Given the description of an element on the screen output the (x, y) to click on. 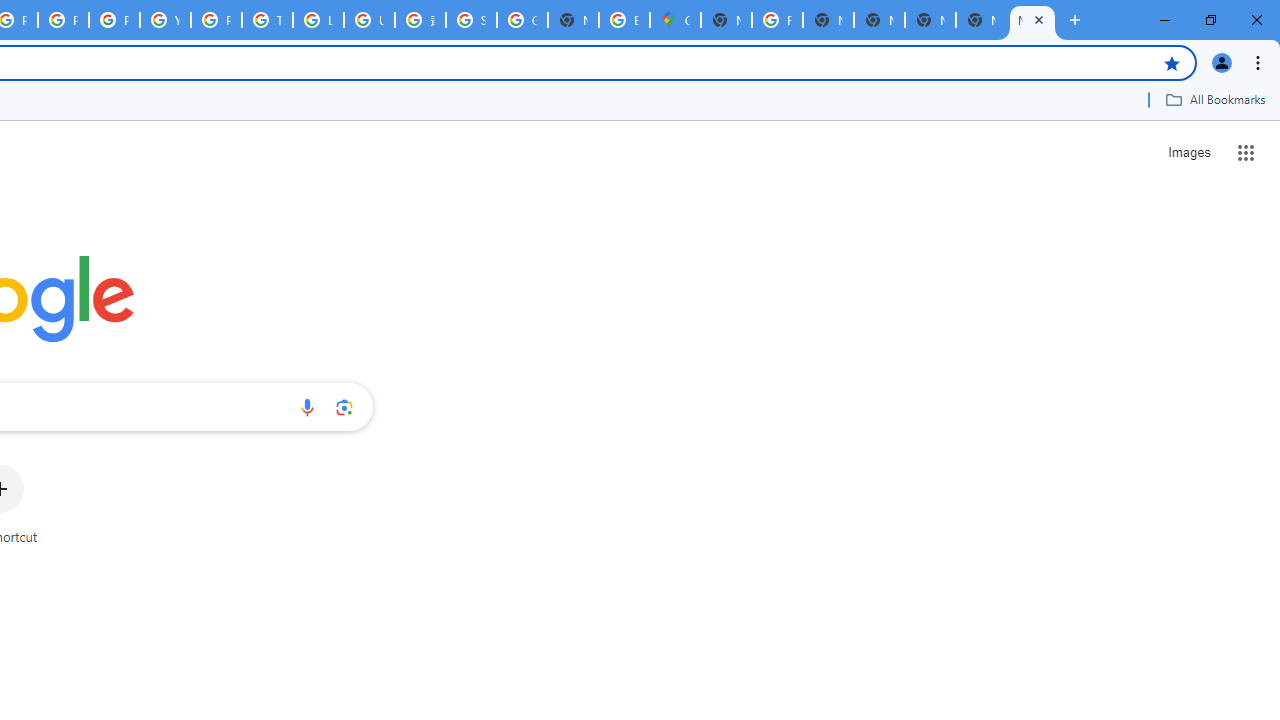
Google Maps (675, 20)
YouTube (164, 20)
New Tab (981, 20)
New Tab (1032, 20)
Explore new street-level details - Google Maps Help (624, 20)
